Given the description of an element on the screen output the (x, y) to click on. 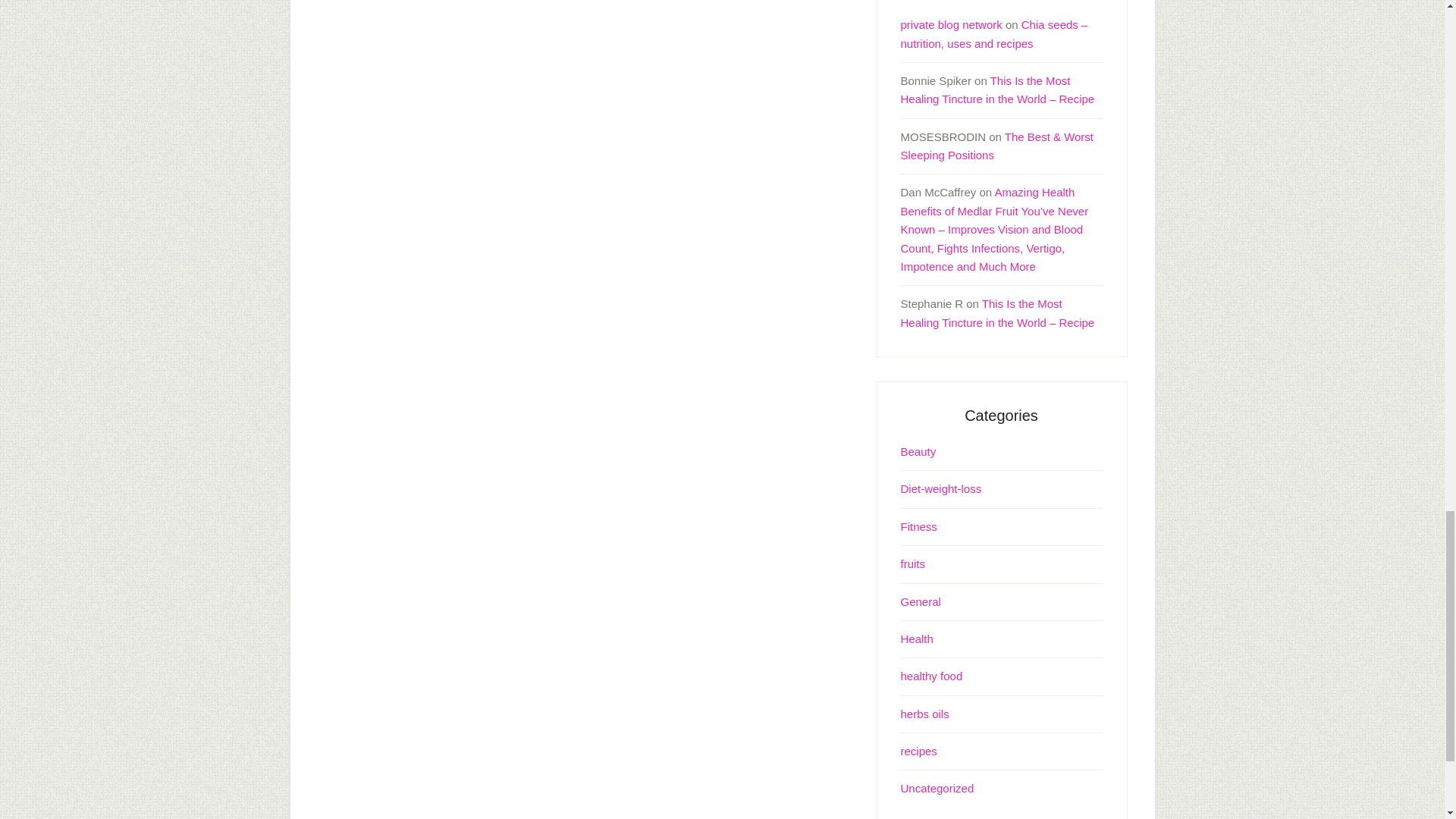
Beauty (918, 451)
Diet-weight-loss (941, 488)
Fitness (919, 526)
private blog network (952, 24)
